Given the description of an element on the screen output the (x, y) to click on. 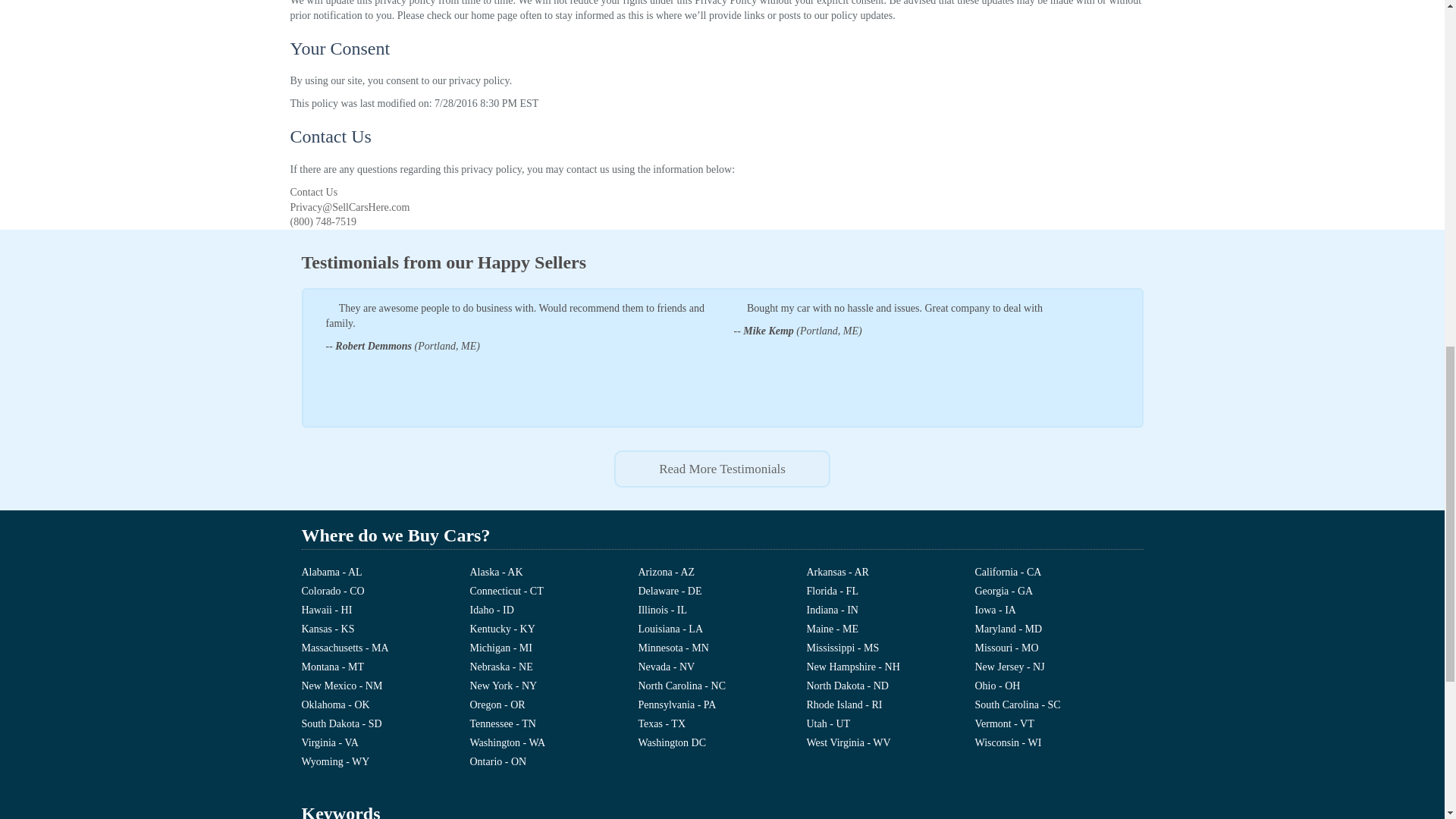
Delaware - DE (722, 592)
Florida - FL (890, 592)
Iowa - IA (1058, 611)
Arkansas - AR (890, 574)
Maryland - MD (1058, 630)
Connecticut - CT (554, 592)
Indiana - IN (890, 611)
Contact Us (313, 192)
Alaska - AK (554, 574)
Kentucky - KY (554, 630)
